Given the description of an element on the screen output the (x, y) to click on. 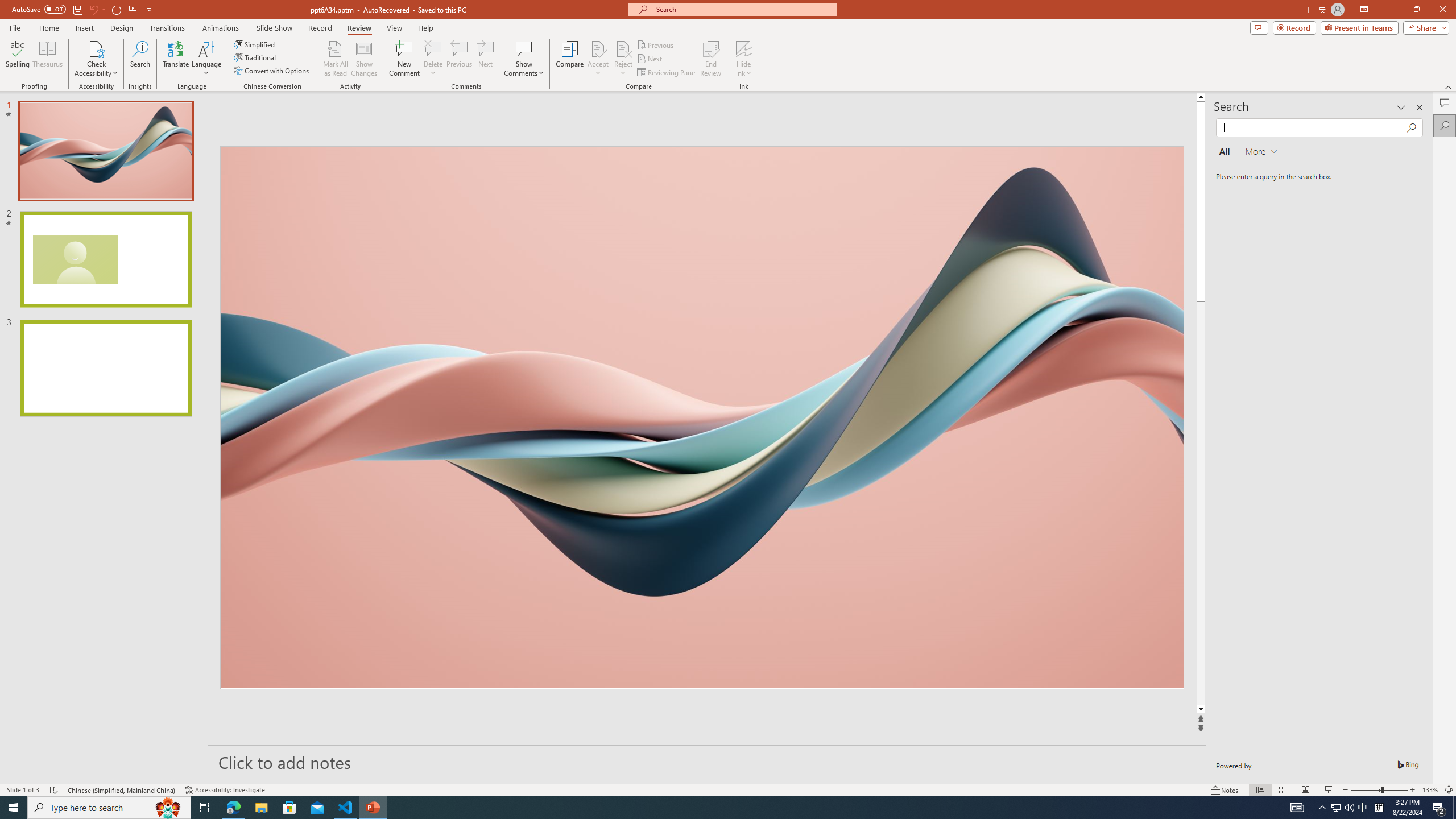
Reject (622, 58)
Previous (655, 44)
Zoom 133% (1430, 790)
Mark All as Read (335, 58)
Next (649, 58)
